Given the description of an element on the screen output the (x, y) to click on. 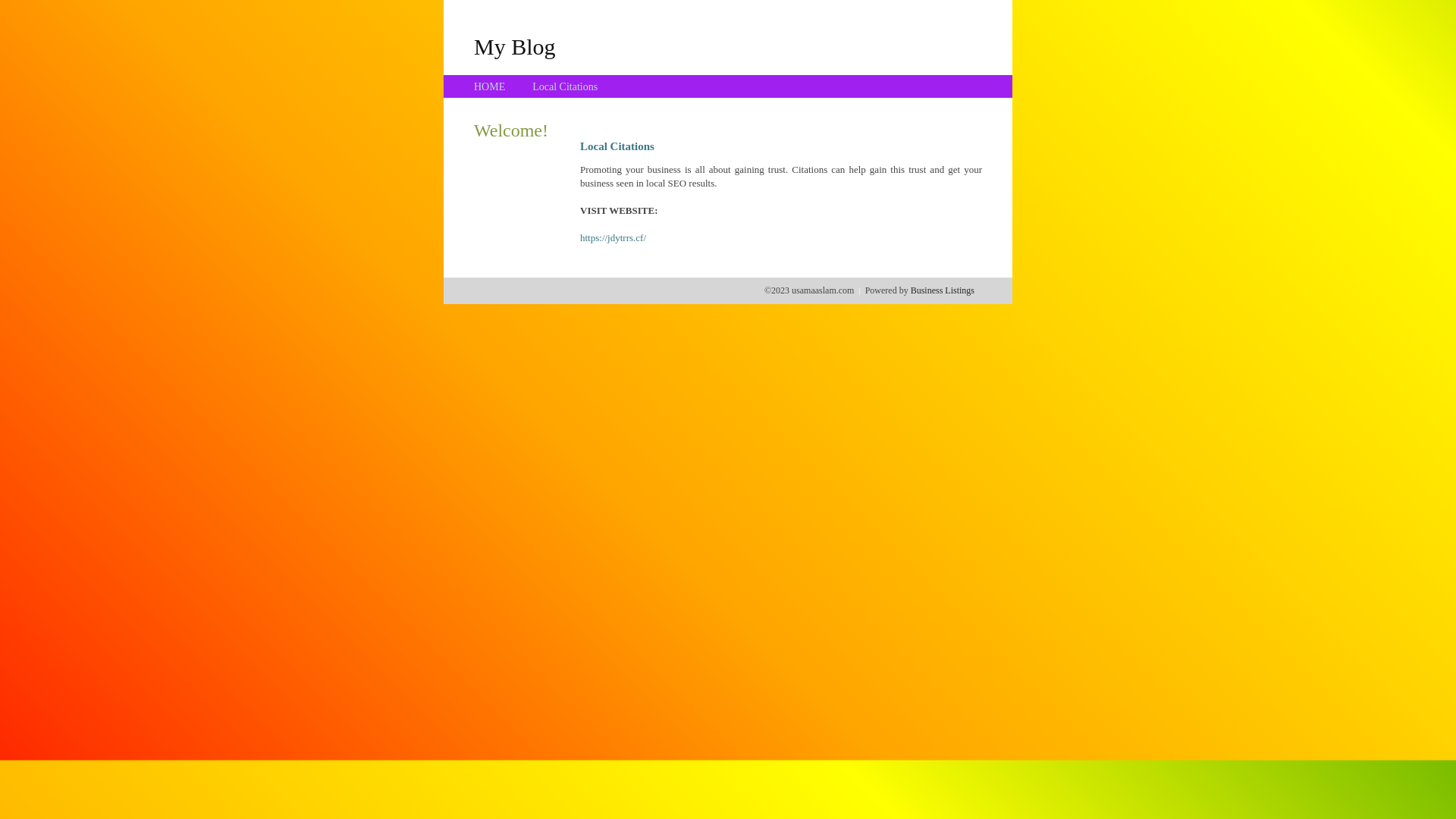
My Blog Element type: text (514, 46)
HOME Element type: text (489, 86)
Local Citations Element type: text (564, 86)
https://jdytrrs.cf/ Element type: text (613, 237)
Business Listings Element type: text (942, 290)
